Given the description of an element on the screen output the (x, y) to click on. 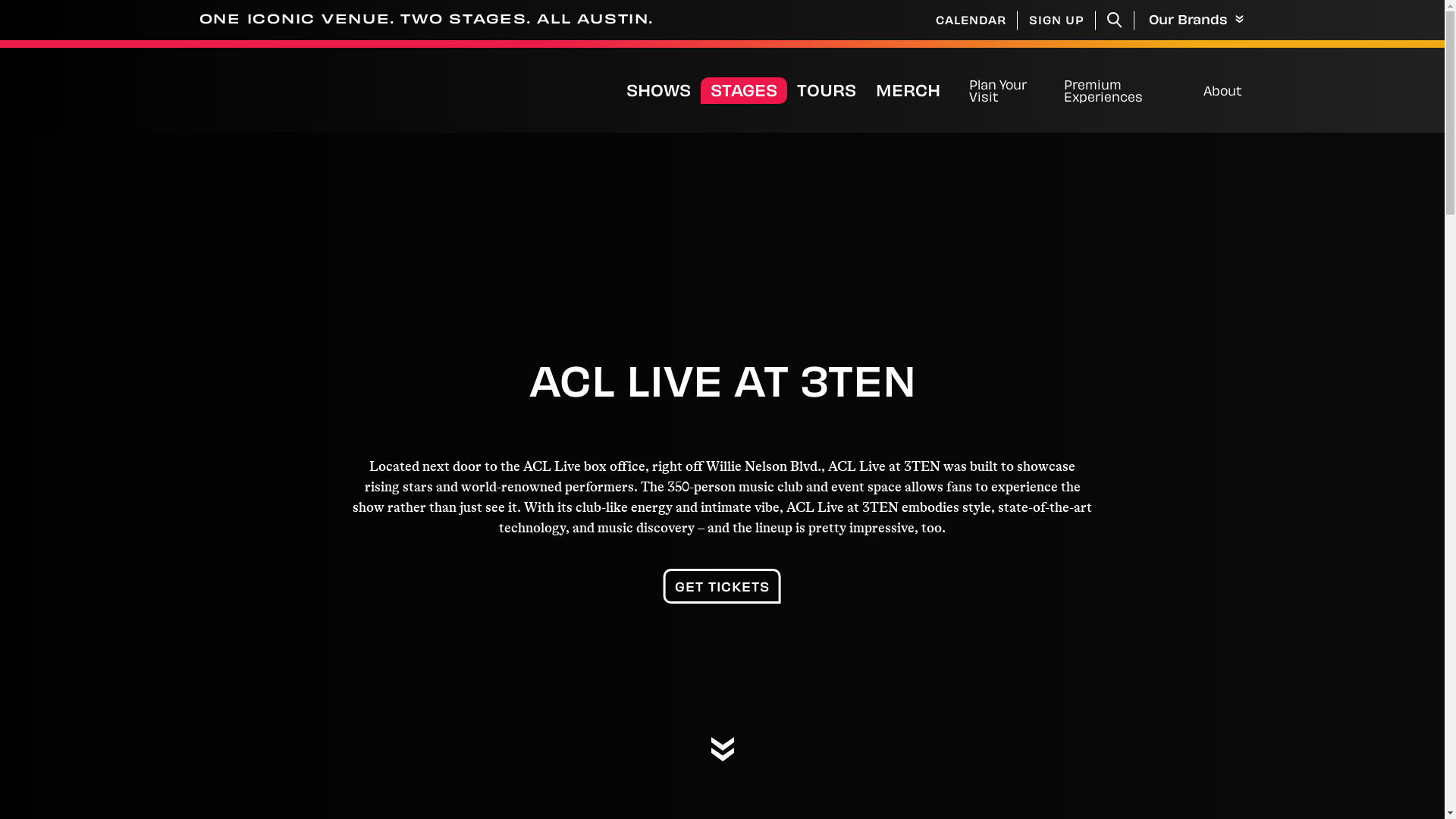
SIGN UP Element type: text (1056, 19)
About Element type: text (1221, 89)
MERCH Element type: text (915, 90)
SHOWS Element type: text (657, 90)
TOURS Element type: text (826, 90)
Premium Experiences Element type: text (1125, 89)
GET TICKETS Element type: text (722, 585)
STAGES Element type: text (743, 90)
Plan Your Visit Element type: text (1008, 89)
CALENDAR Element type: text (969, 19)
Our Brands Element type: text (1191, 20)
Austin City Limits Live Element type: hover (399, 90)
